Given the description of an element on the screen output the (x, y) to click on. 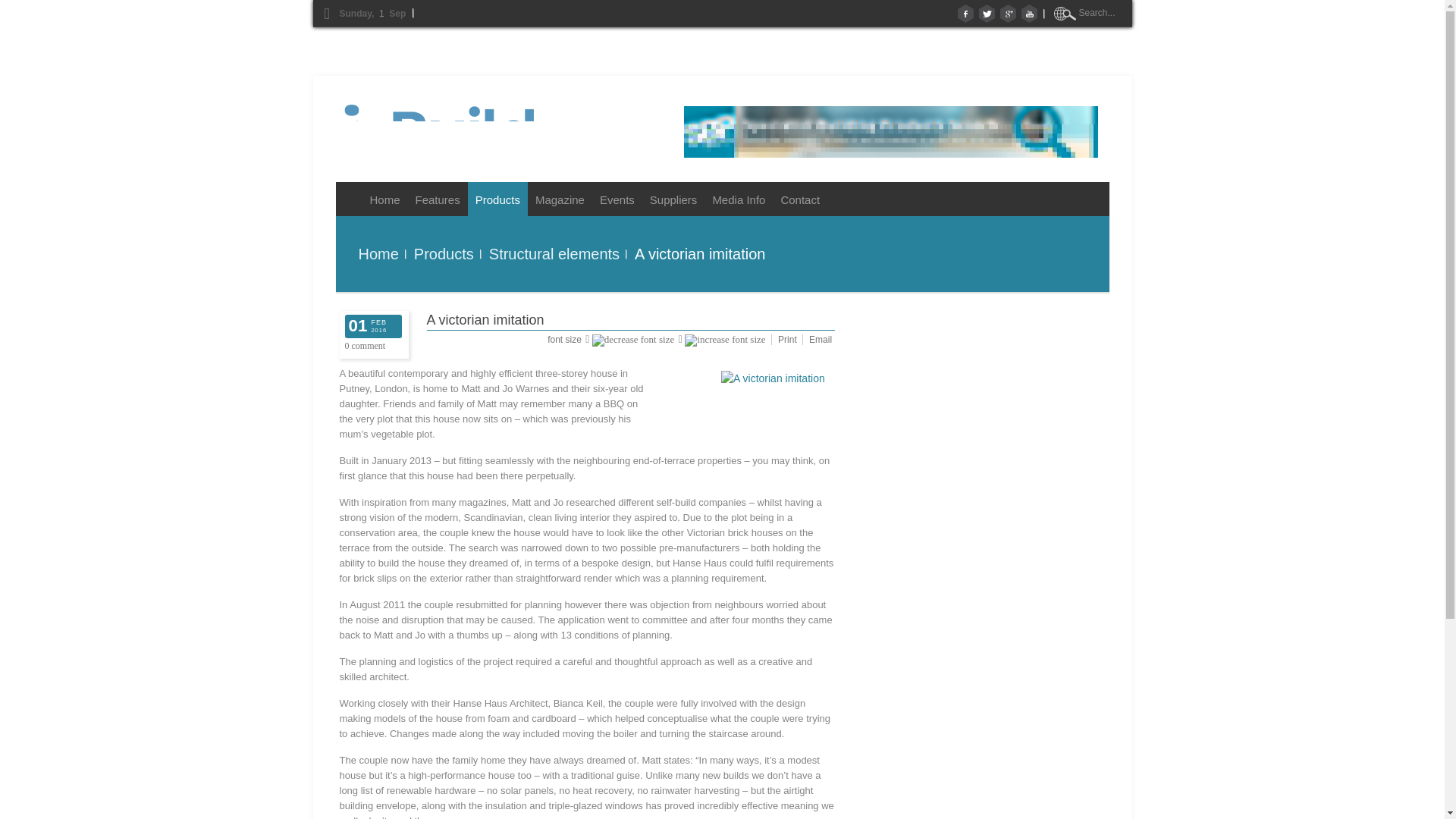
Products (497, 198)
Features (437, 198)
Magazine (559, 198)
Home (370, 198)
Search... (1098, 12)
Reset (3, 2)
